Given the description of an element on the screen output the (x, y) to click on. 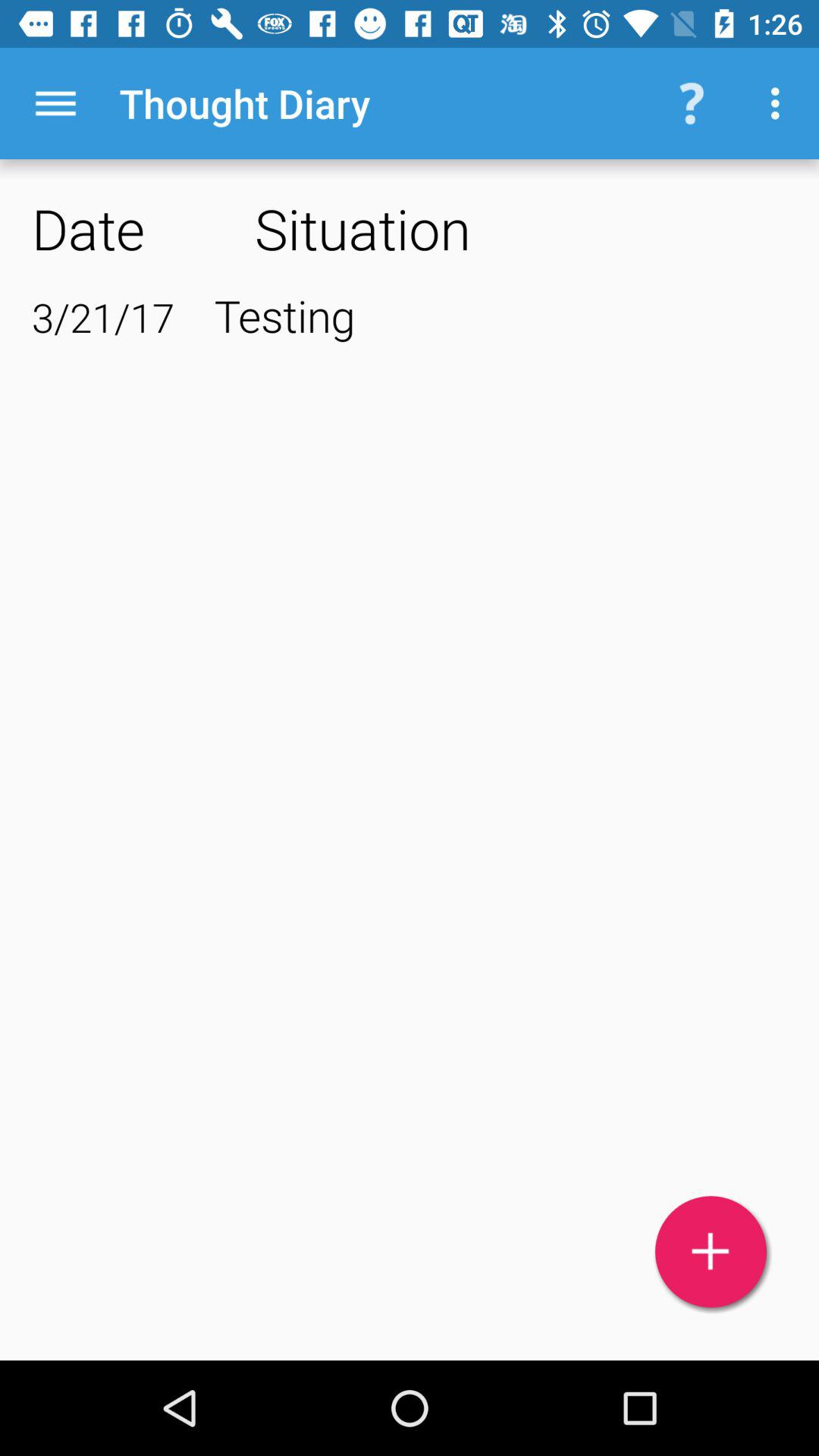
swipe until the 3/21/17 (102, 316)
